Given the description of an element on the screen output the (x, y) to click on. 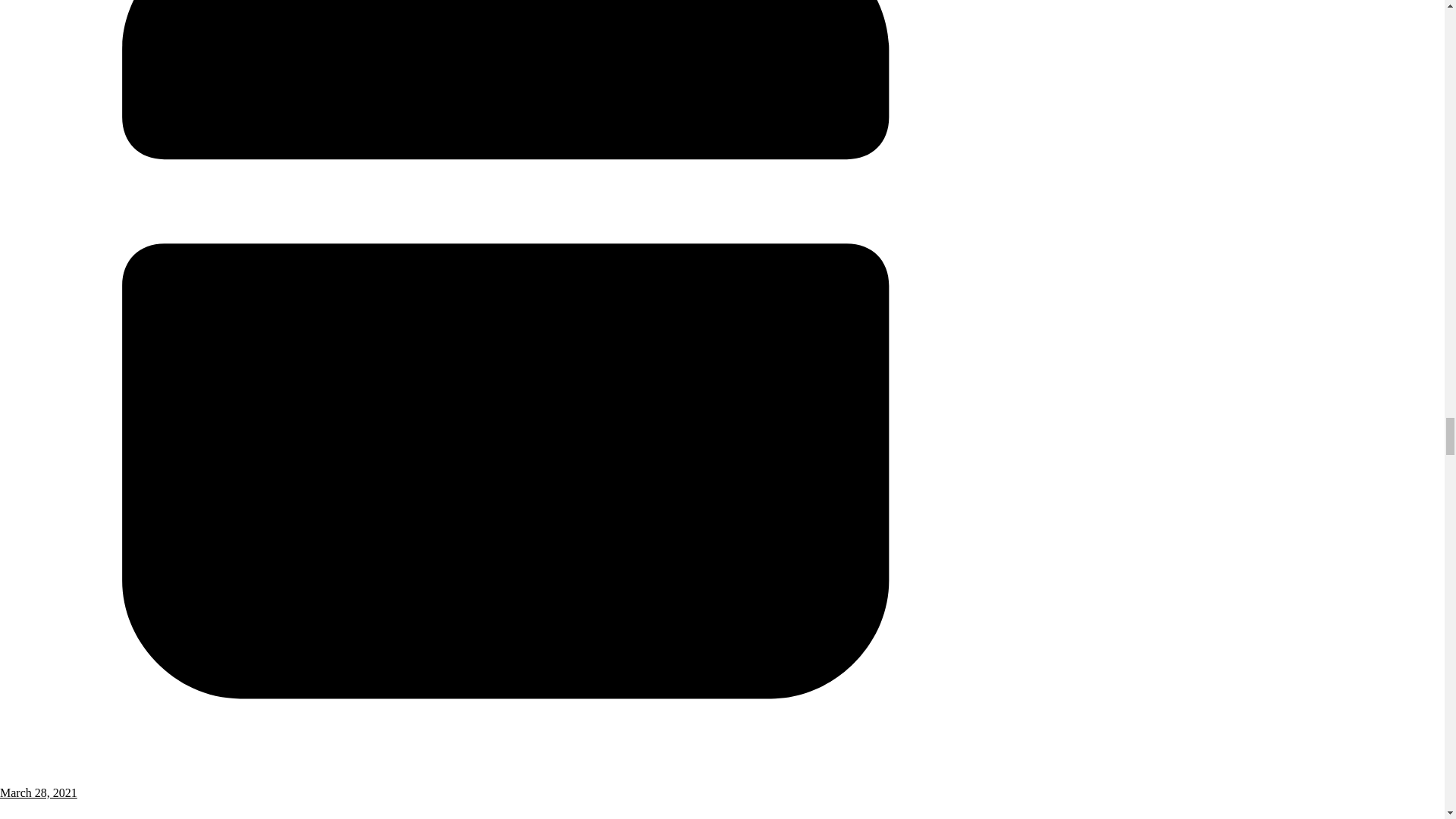
8:24 am (505, 786)
